Given the description of an element on the screen output the (x, y) to click on. 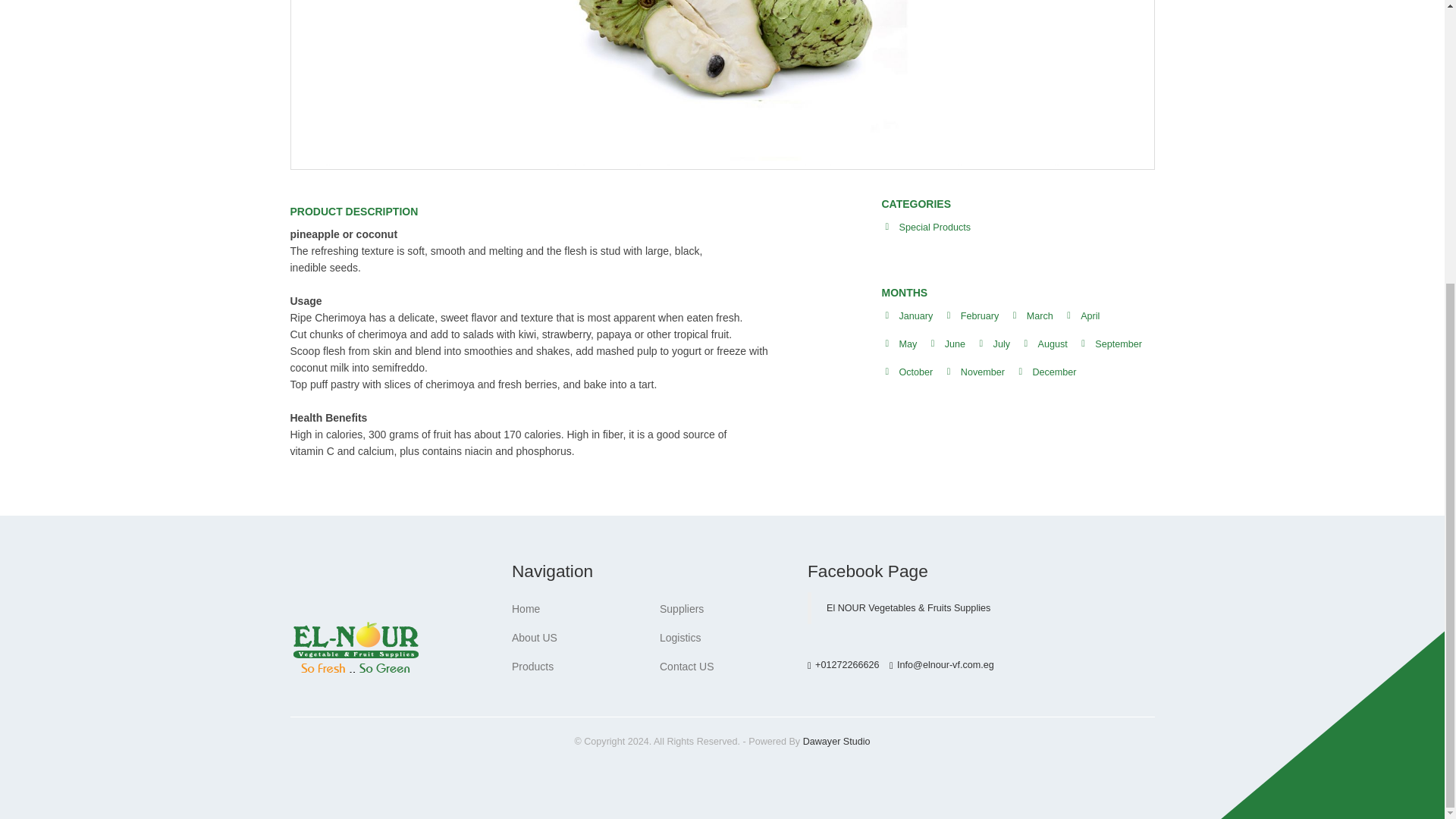
July (1001, 344)
April (1089, 316)
Special Products (935, 226)
Suppliers (681, 608)
About US (534, 637)
May (908, 344)
December (1053, 371)
June (954, 344)
October (916, 371)
March (1039, 316)
February (979, 316)
November (982, 371)
Logistics (679, 637)
September (1117, 344)
Contact US (686, 666)
